Given the description of an element on the screen output the (x, y) to click on. 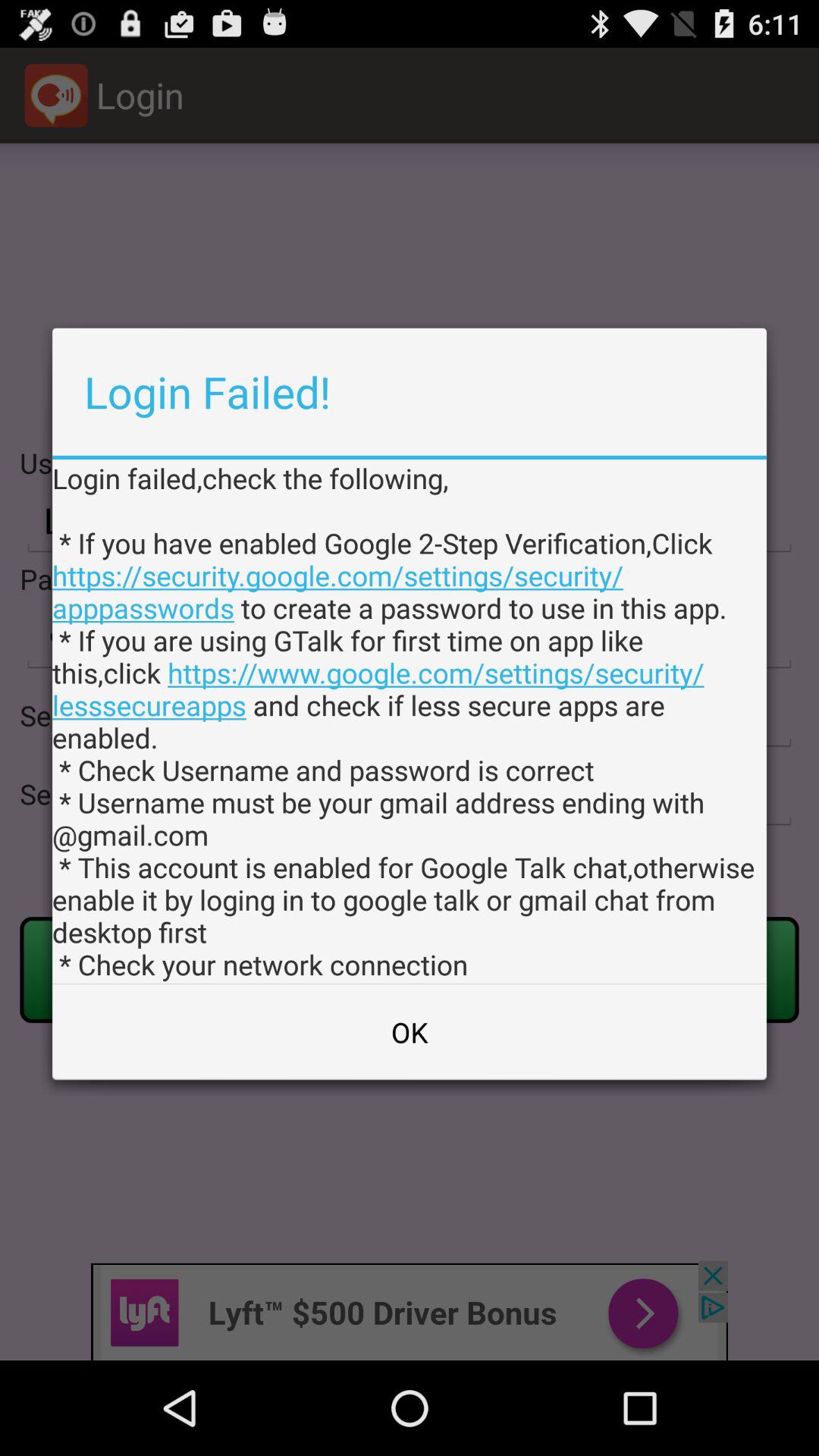
flip until the ok button (409, 1032)
